Given the description of an element on the screen output the (x, y) to click on. 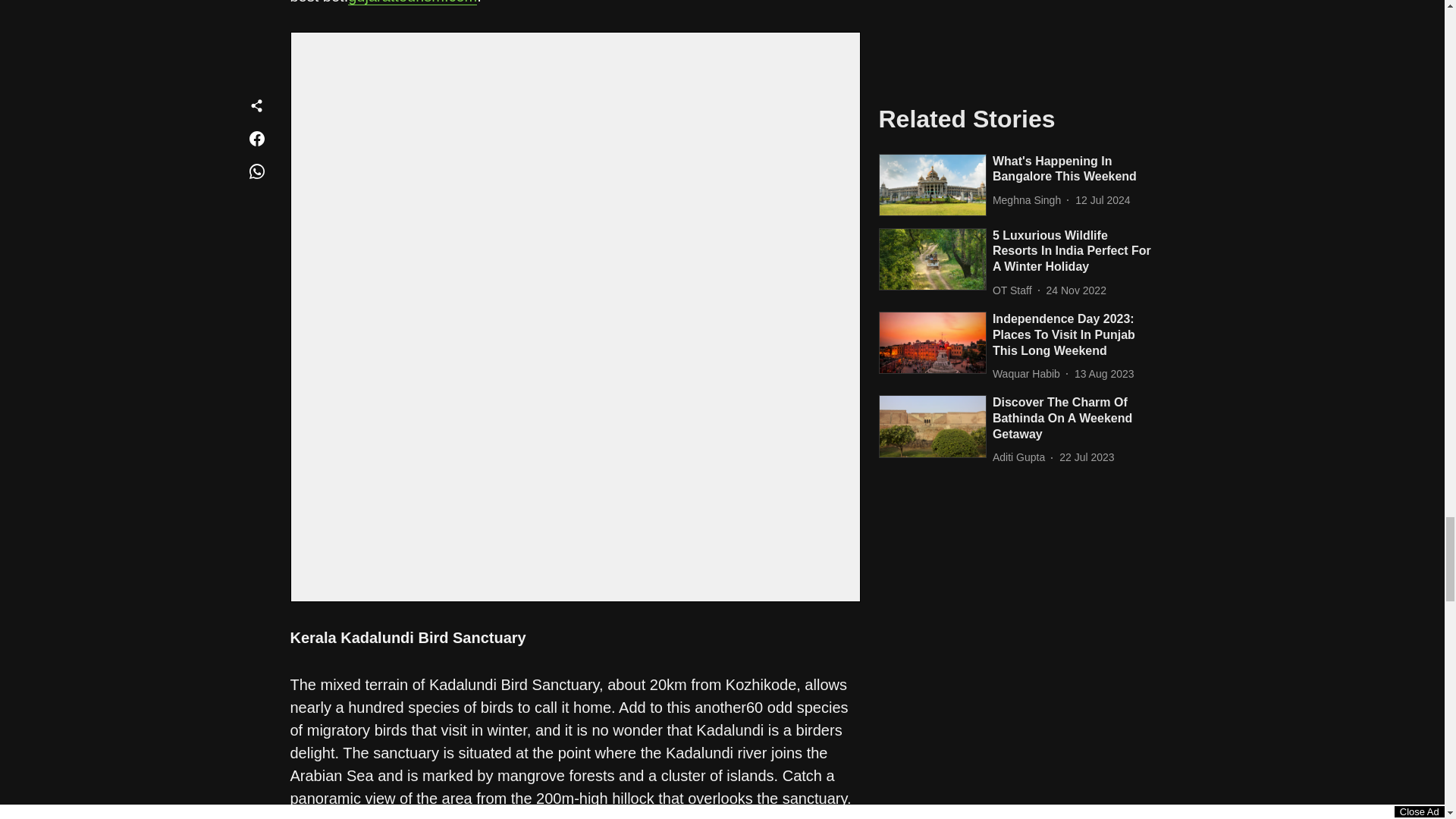
gujarattourism.com (412, 2)
